Given the description of an element on the screen output the (x, y) to click on. 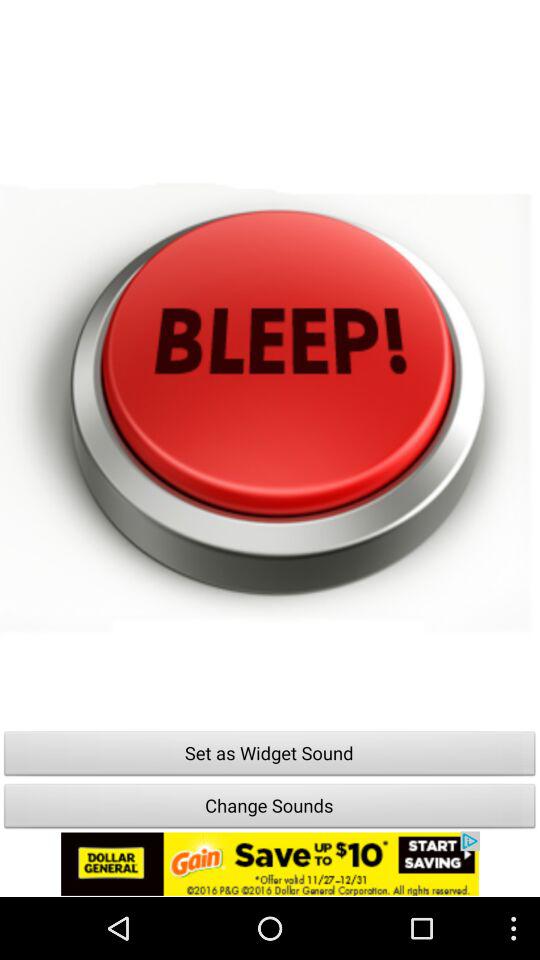
know about the advertisement (270, 864)
